Given the description of an element on the screen output the (x, y) to click on. 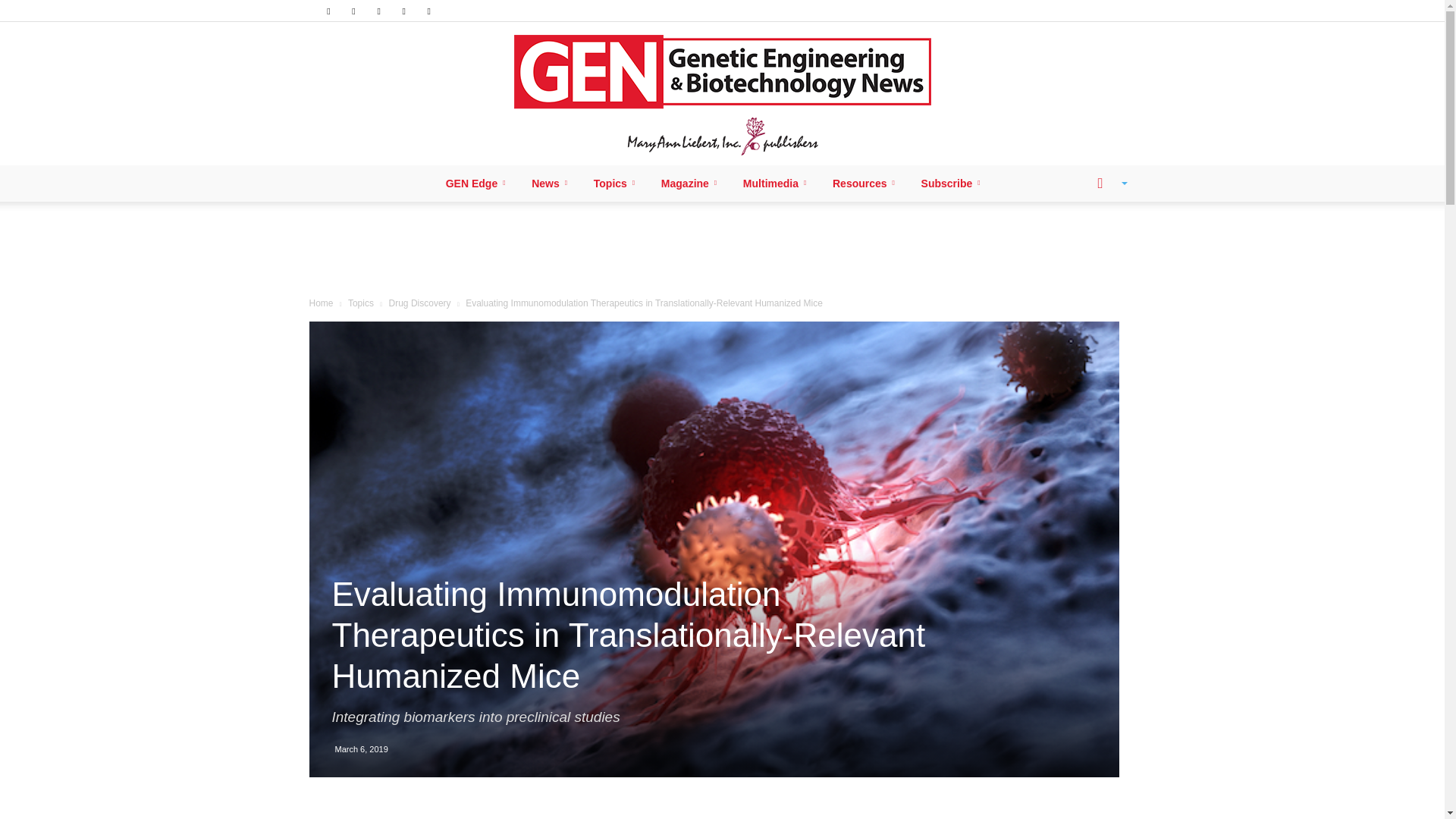
View all posts in Topics (360, 303)
RSS (379, 10)
Youtube (429, 10)
3rd party ad content (722, 251)
Twitter (403, 10)
Linkedin (353, 10)
Facebook (328, 10)
View all posts in Drug Discovery (419, 303)
